Given the description of an element on the screen output the (x, y) to click on. 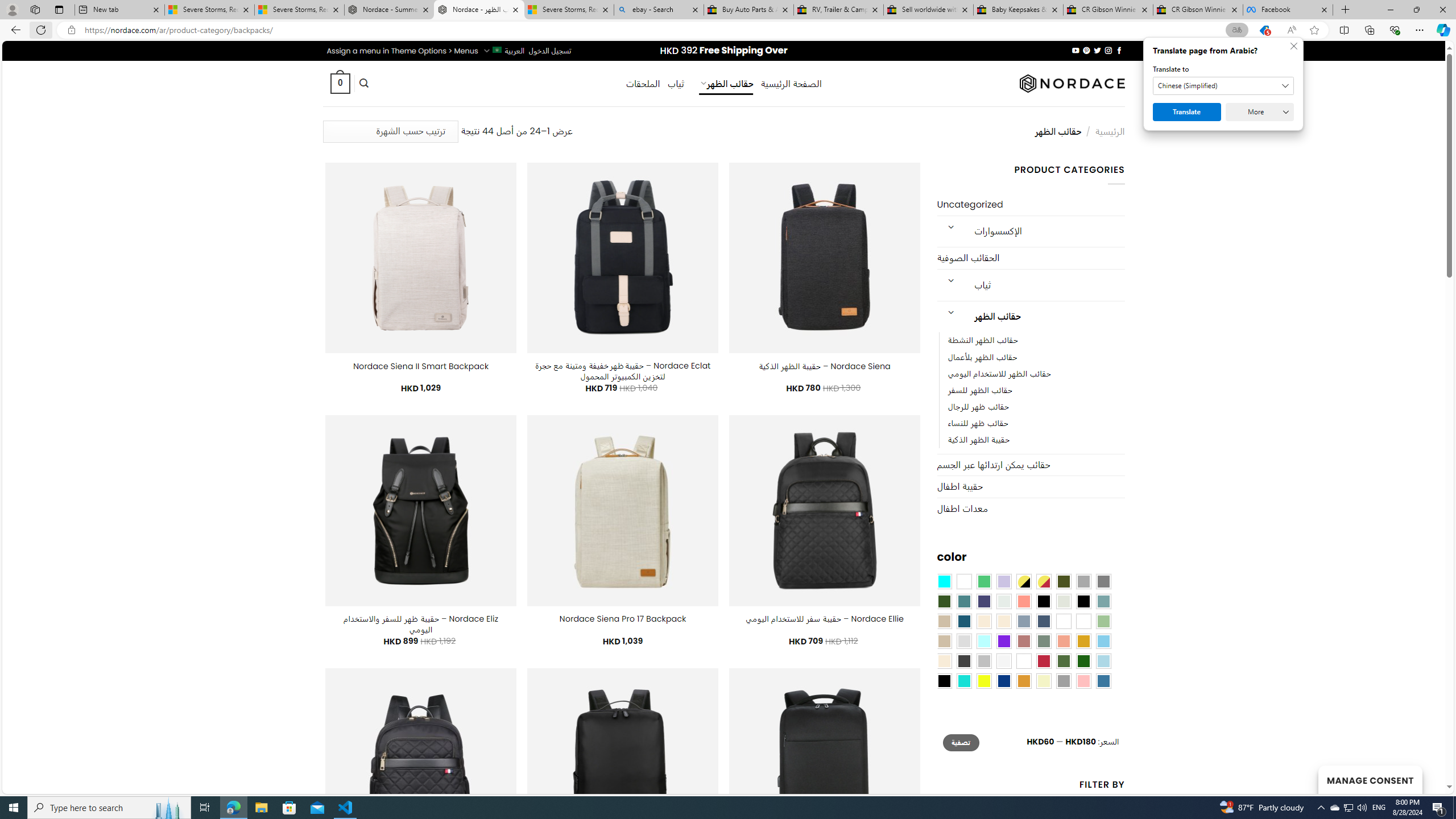
Caramel (983, 621)
Uncategorized (1030, 204)
Rose (1023, 640)
Dusty Blue (1023, 621)
Translate to (1223, 85)
Brownie (944, 621)
Purple (1003, 640)
ebay - Search (658, 9)
